Given the description of an element on the screen output the (x, y) to click on. 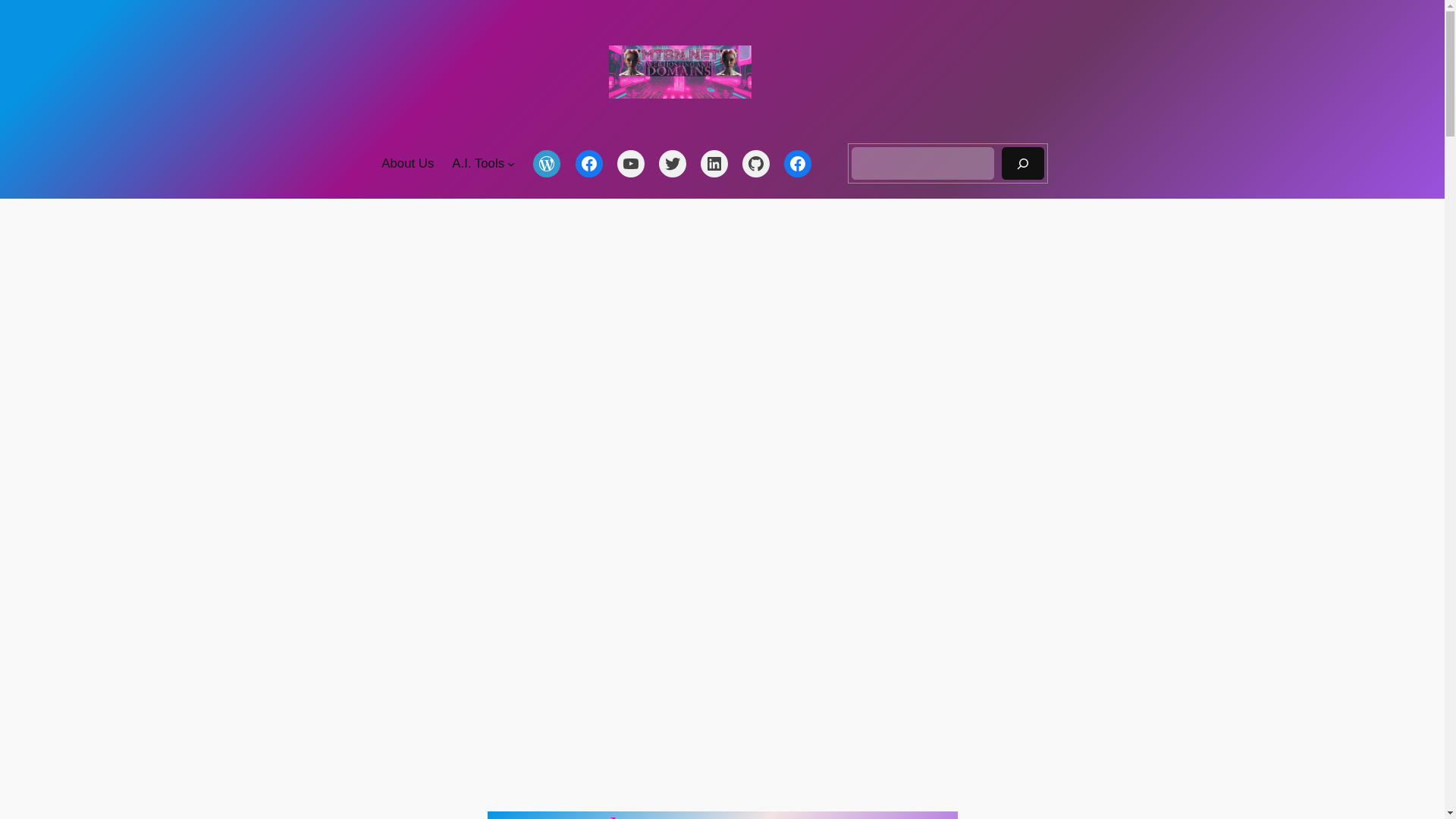
A.I. Tools (477, 163)
About Us (407, 163)
WordPress (546, 163)
Facebook (797, 163)
Facebook (588, 163)
GitHub (756, 163)
Twitter (672, 163)
YouTube (631, 163)
LinkedIn (714, 163)
